Given the description of an element on the screen output the (x, y) to click on. 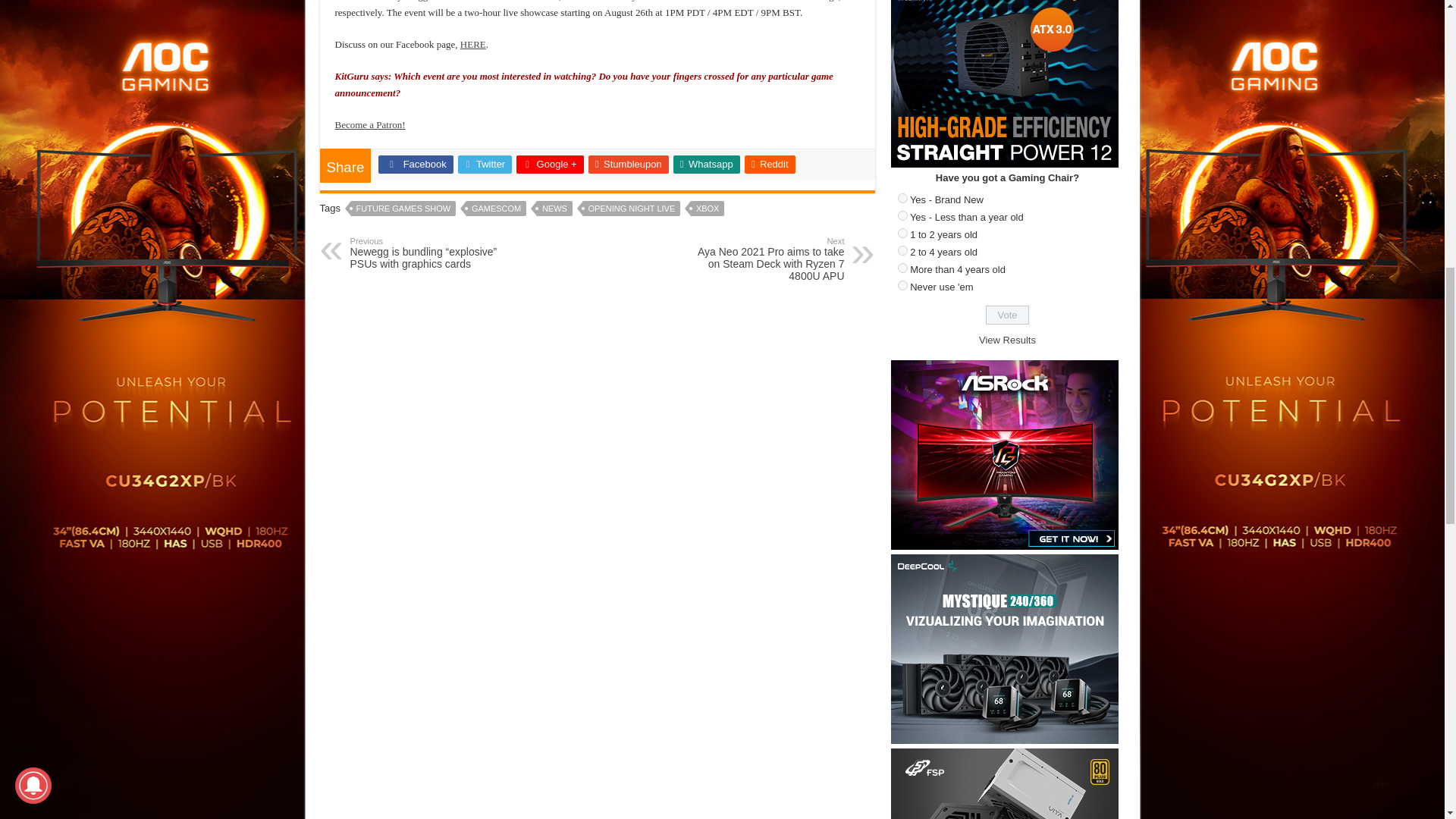
1376 (902, 250)
1374 (902, 215)
   Vote    (1007, 314)
1378 (902, 285)
1375 (902, 233)
HERE (473, 43)
1377 (902, 267)
View Results Of This Poll (1006, 339)
1373 (902, 198)
